Given the description of an element on the screen output the (x, y) to click on. 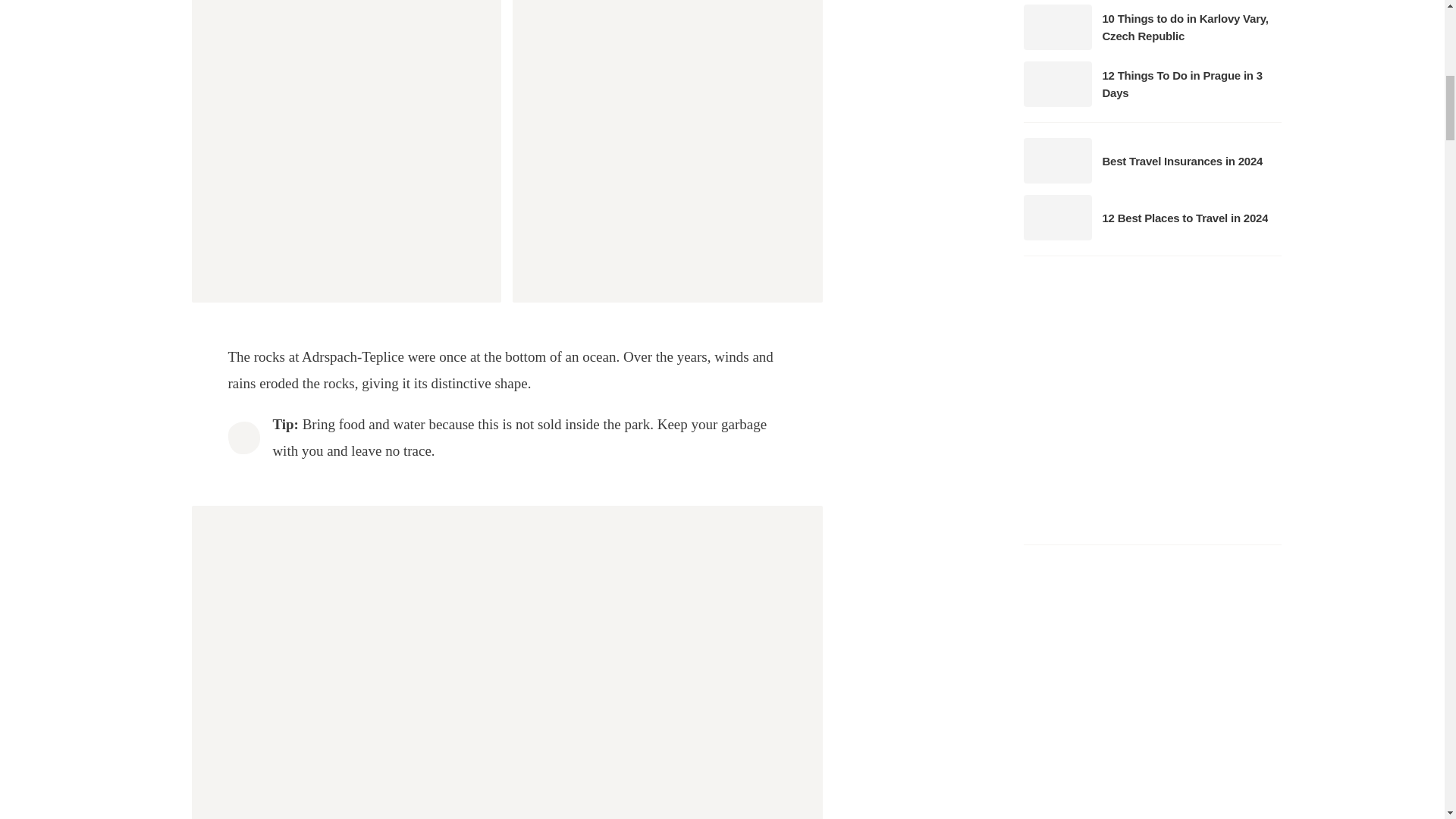
12 Things To Do in Prague in 3 Days (1151, 84)
Best Travel Insurances in 2024 (1151, 160)
Salt in our Hair Presets (1152, 399)
10 Things to do in Karlovy Vary, Czech Republic (1151, 27)
12 Best Places to Travel in 2024 (1151, 217)
